Given the description of an element on the screen output the (x, y) to click on. 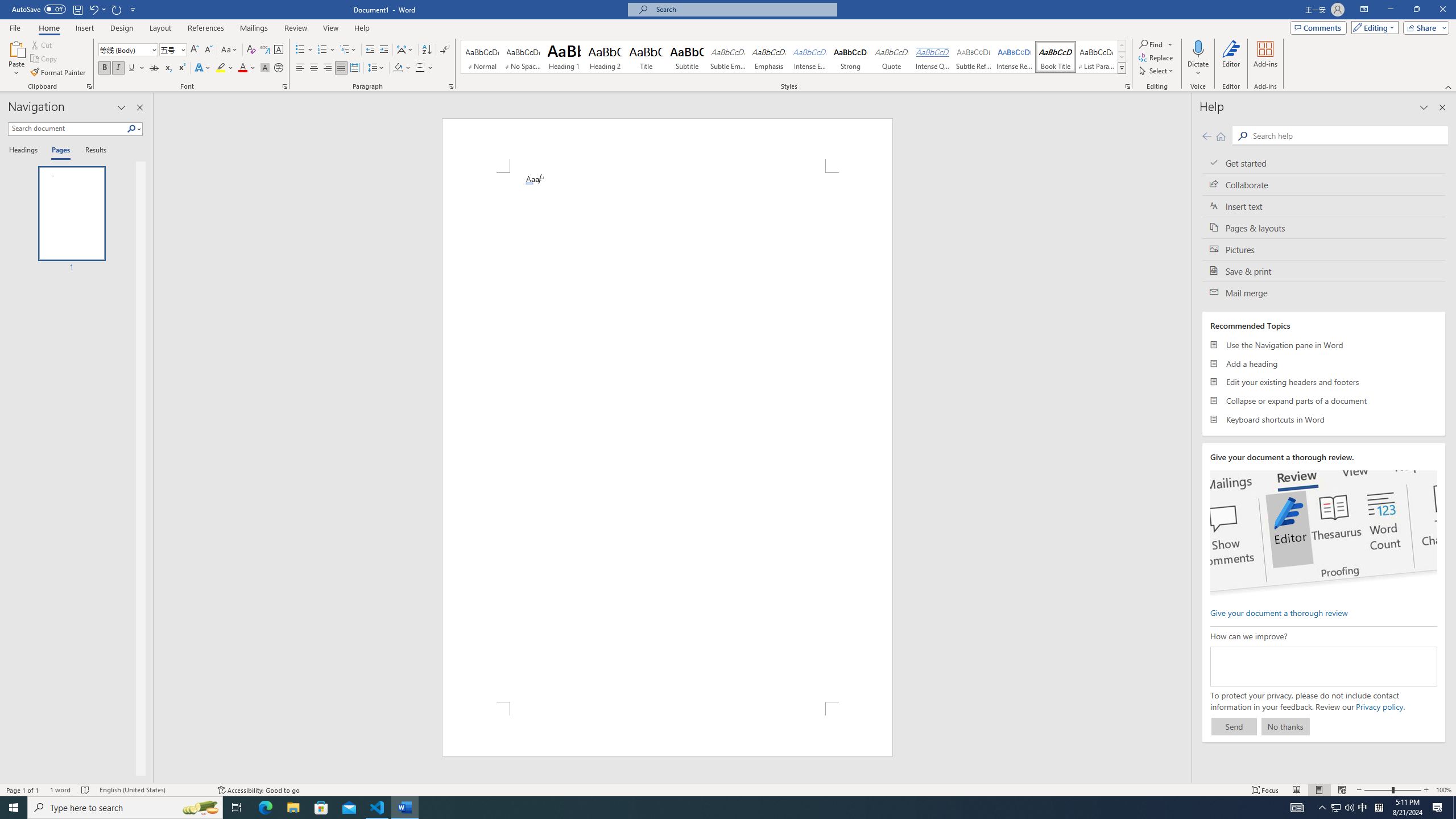
Send (1233, 726)
Accessibility Checker Accessibility: Good to go (258, 790)
Subtitle (686, 56)
